Given the description of an element on the screen output the (x, y) to click on. 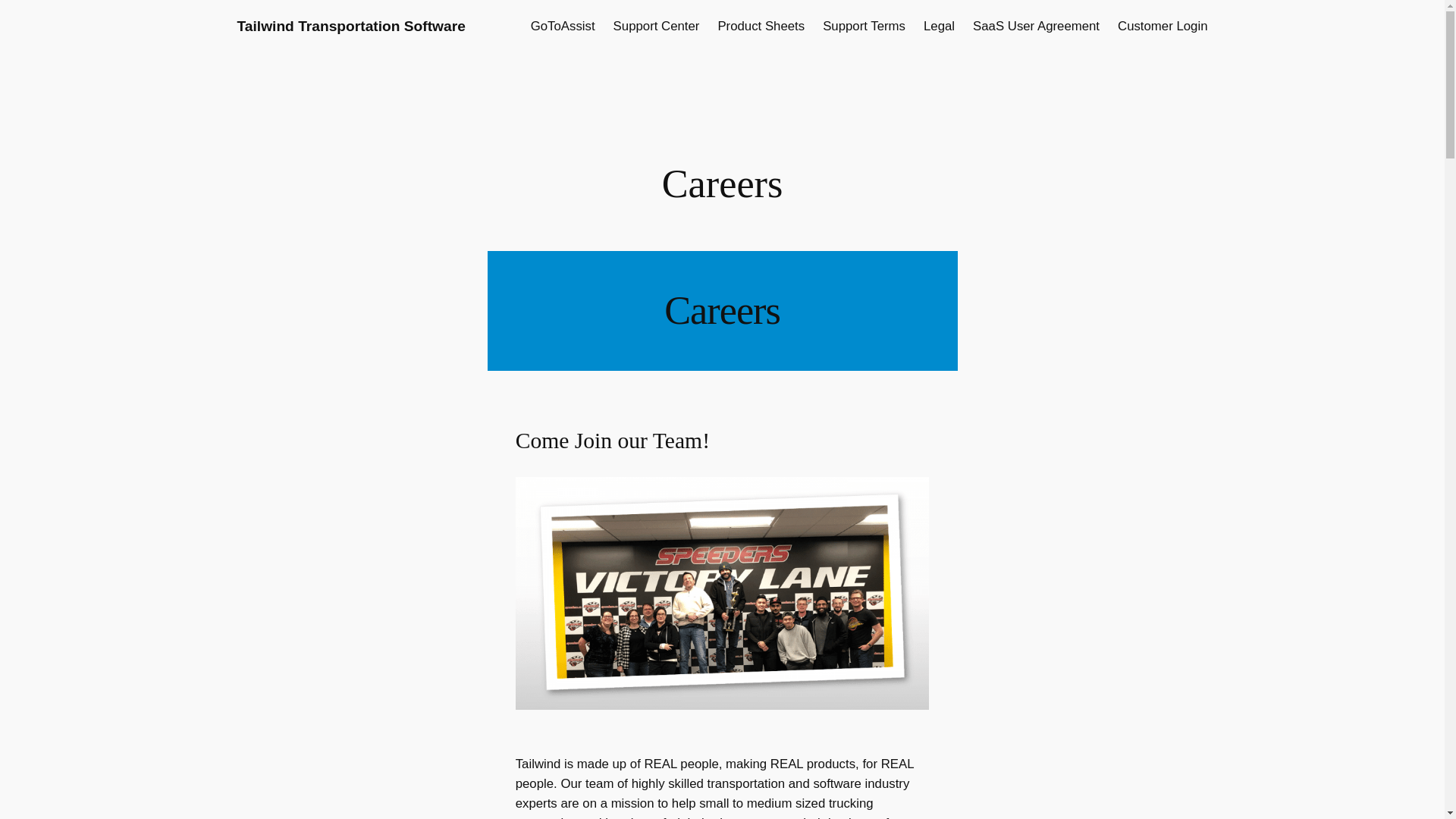
GoToAssist (563, 26)
SaaS User Agreement (1035, 26)
Tailwind Transportation Software (349, 26)
Product Sheets (761, 26)
Customer Login (1162, 26)
Support Center (656, 26)
Legal (939, 26)
Support Terms (863, 26)
